Given the description of an element on the screen output the (x, y) to click on. 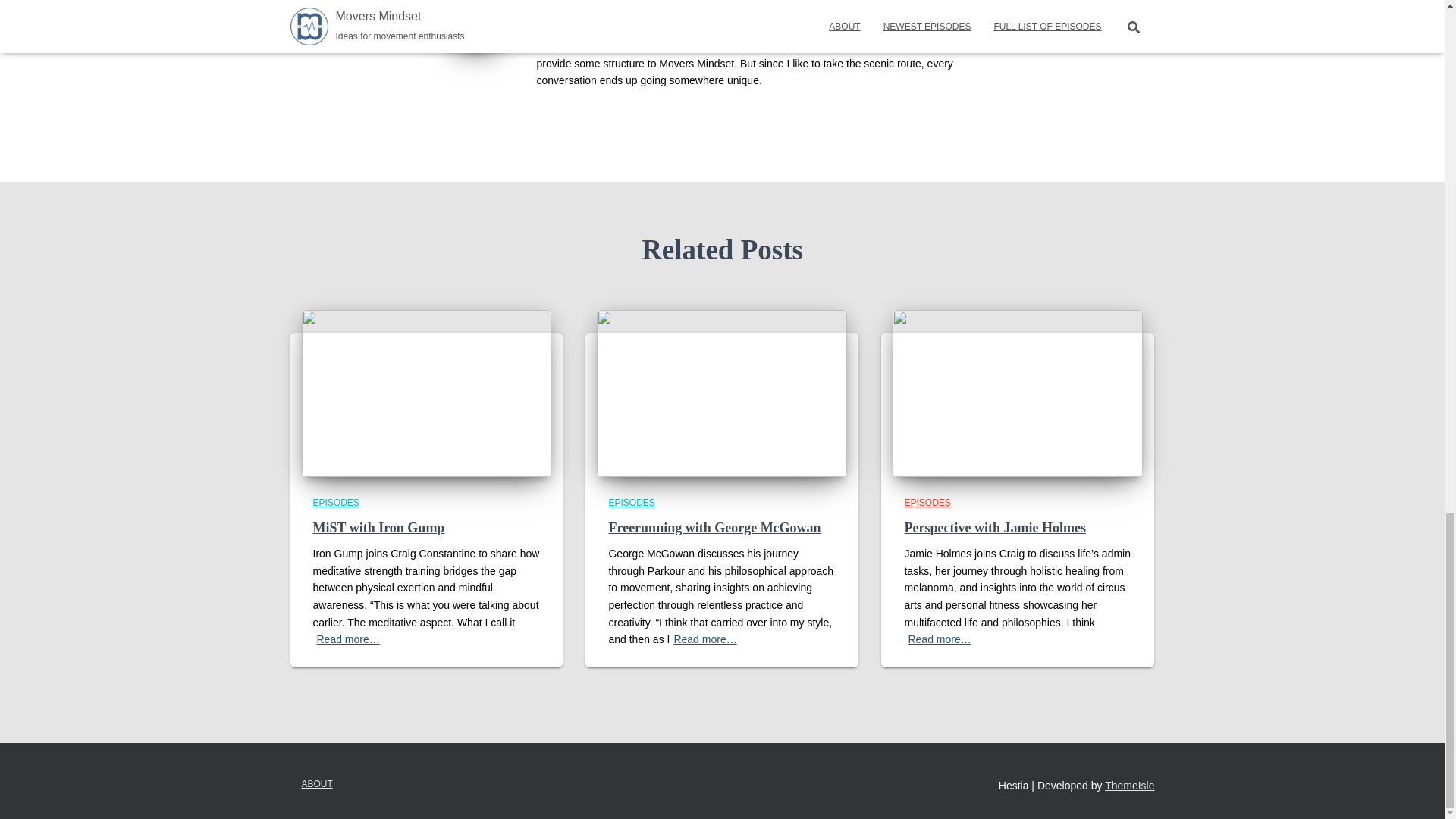
MiST with Iron Gump (378, 527)
EPISODES (630, 502)
EPISODES (335, 502)
